Given the description of an element on the screen output the (x, y) to click on. 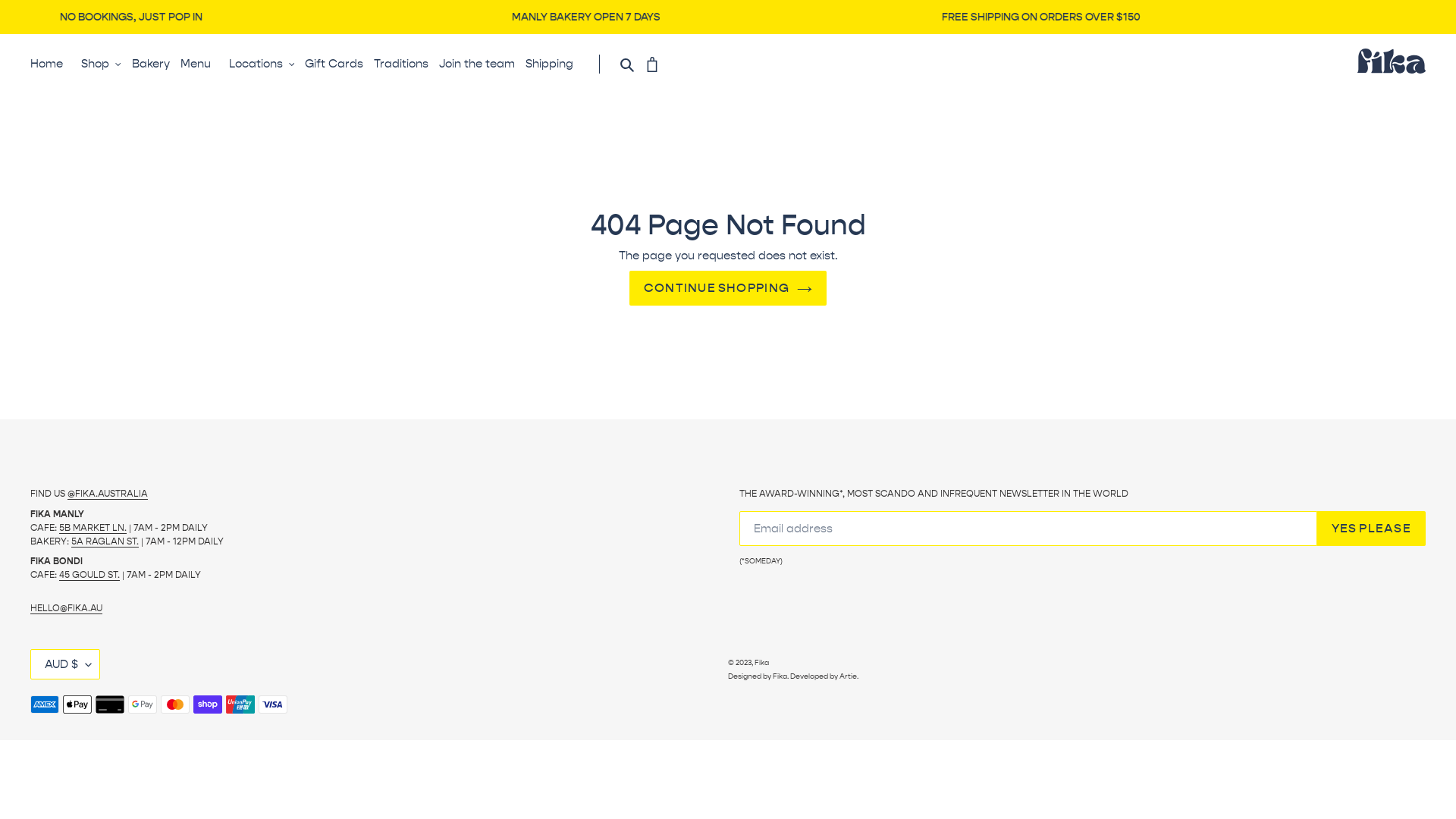
5B MARKET LN. Element type: text (92, 527)
45 GOULD ST. Element type: text (89, 574)
@FIKA.AUSTRALIA Element type: text (107, 493)
Artie. Element type: text (848, 675)
HELLO@FIKA.AU Element type: text (66, 608)
Home Element type: text (50, 64)
Gift Cards Element type: text (337, 64)
Locations Element type: text (261, 64)
Join the team Element type: text (480, 64)
CONTINUE SHOPPING Element type: text (727, 287)
AUD $ Element type: text (65, 664)
Shop Element type: text (100, 64)
Shipping Element type: text (552, 64)
Menu Element type: text (199, 64)
5A RAGLAN ST. Element type: text (104, 541)
Bakery Element type: text (154, 64)
Traditions Element type: text (404, 64)
Fika Element type: text (761, 662)
YES PLEASE Element type: text (1371, 528)
